Given the description of an element on the screen output the (x, y) to click on. 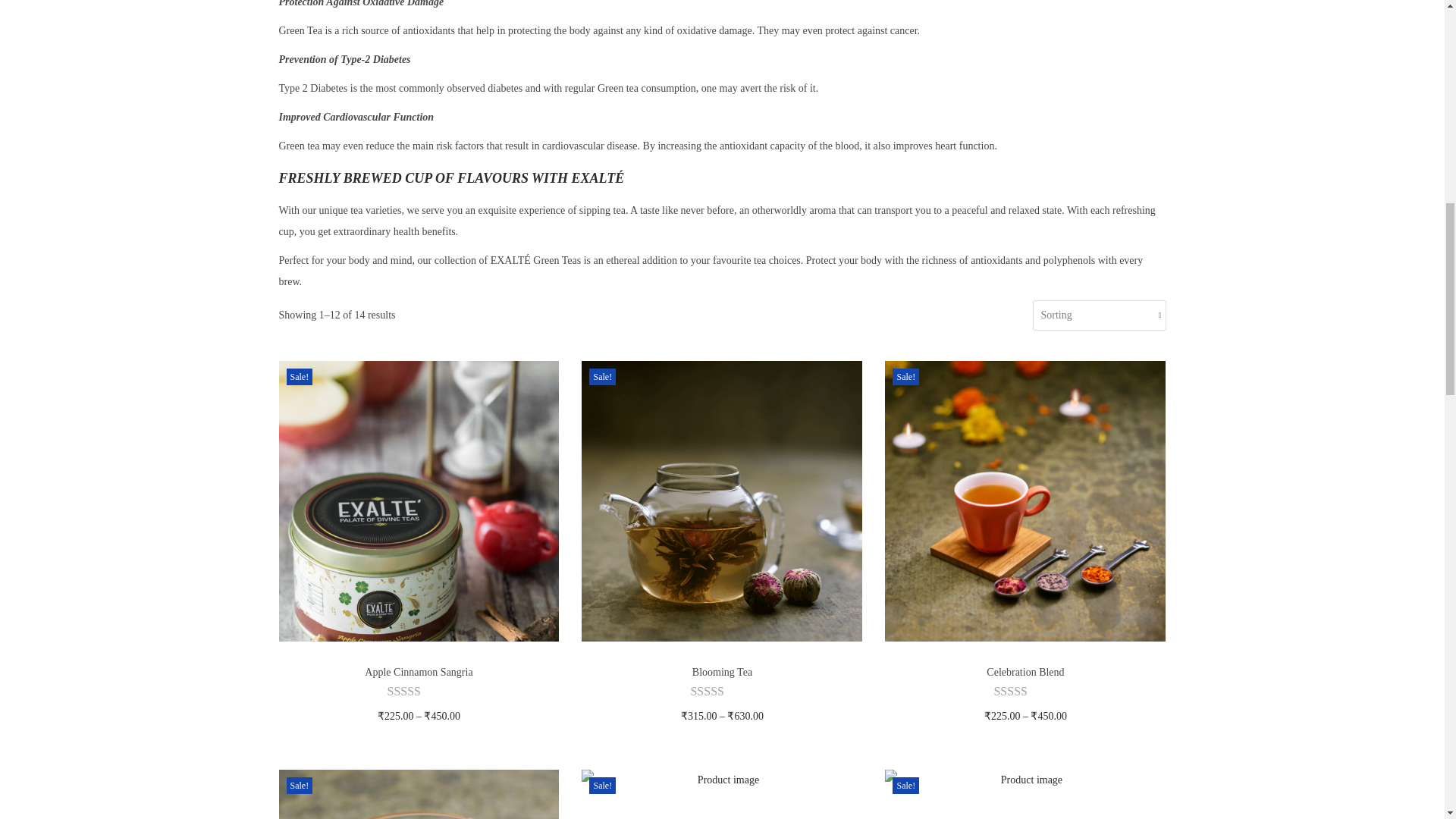
Celebration Blend (1025, 672)
Apple Cinnamon Sangria (418, 672)
Blooming Tea (722, 672)
